Given the description of an element on the screen output the (x, y) to click on. 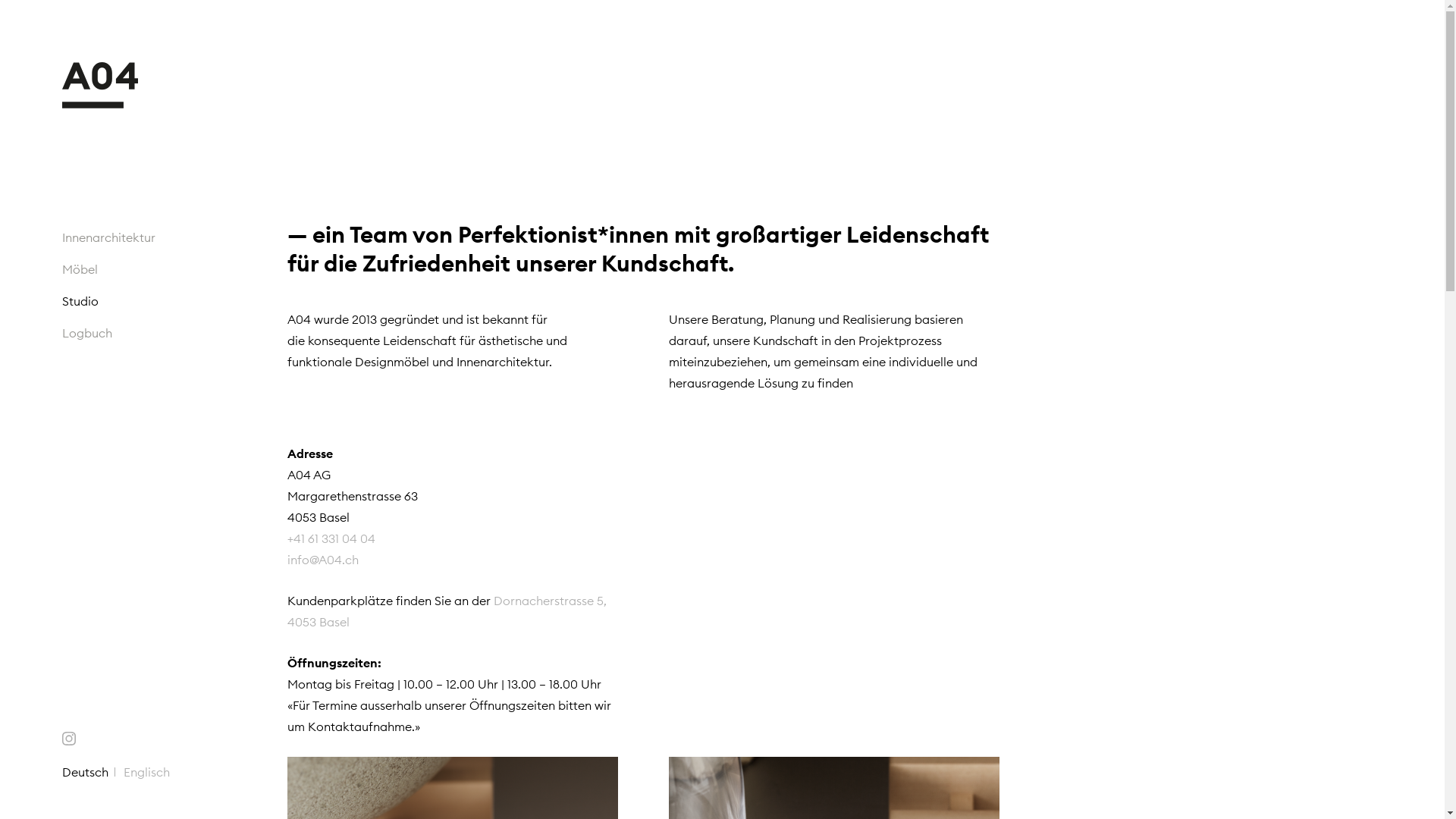
Studio Element type: text (175, 300)
Deutsch Element type: text (88, 771)
Logbuch Element type: text (175, 332)
Dornacherstrasse 5, 4053 Basel Element type: text (446, 611)
+41 61 331 04 04 Element type: text (331, 548)
Englisch Element type: text (149, 771)
Innenarchitektur Element type: text (175, 236)
info@A04.ch Element type: text (331, 570)
